Given the description of an element on the screen output the (x, y) to click on. 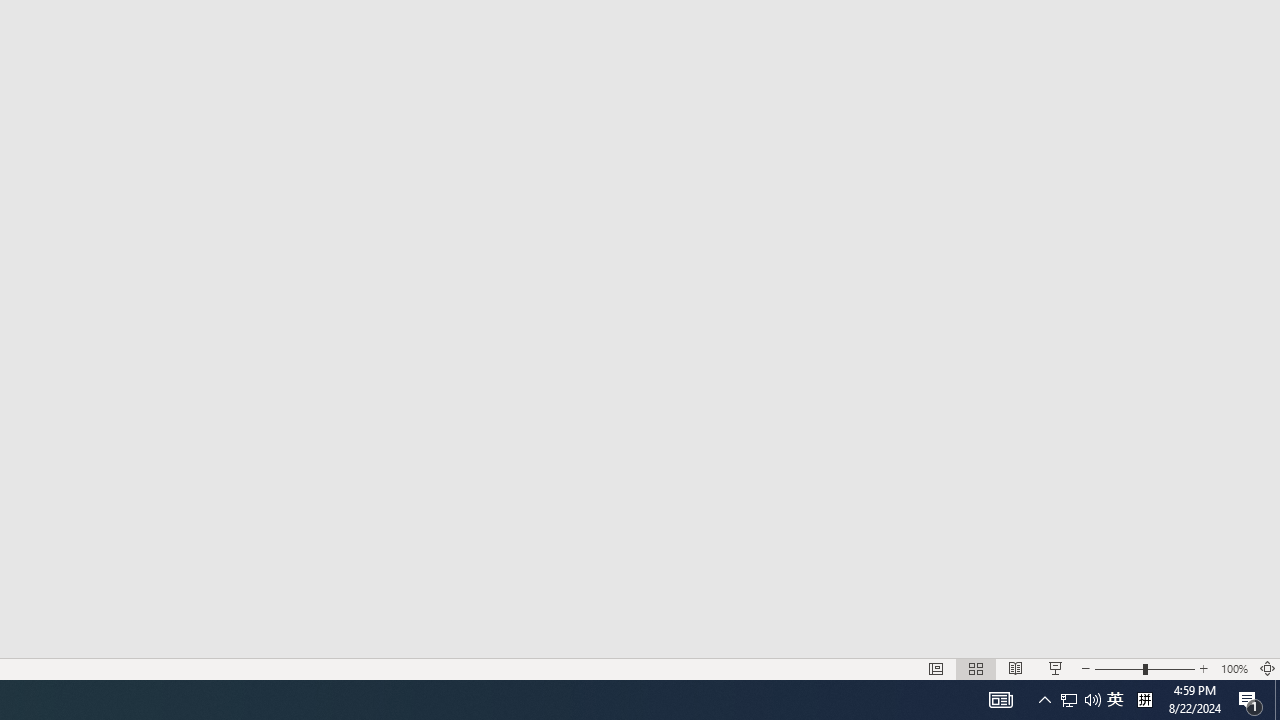
Zoom 100% (1234, 668)
